Given the description of an element on the screen output the (x, y) to click on. 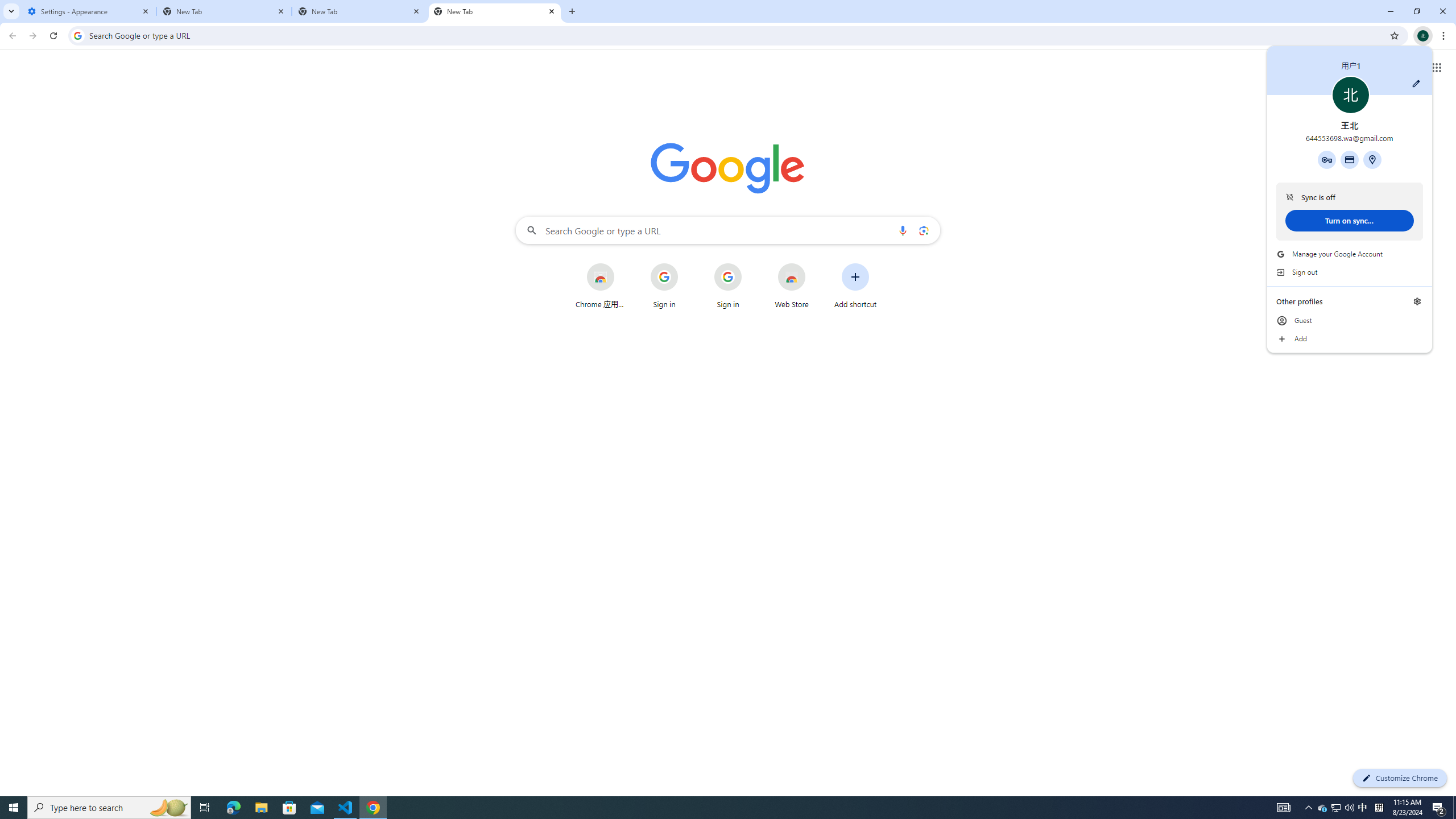
AutomationID: 4105 (1322, 807)
More actions for Web Store shortcut (1283, 807)
More actions for Sign in shortcut (814, 264)
Running applications (750, 264)
Show desktop (700, 807)
Q2790: 100% (1454, 807)
Guest (1349, 807)
Payment methods (1349, 321)
Addresses and more (1349, 159)
Visual Studio Code - 1 running window (1371, 159)
Microsoft Store (345, 807)
